Given the description of an element on the screen output the (x, y) to click on. 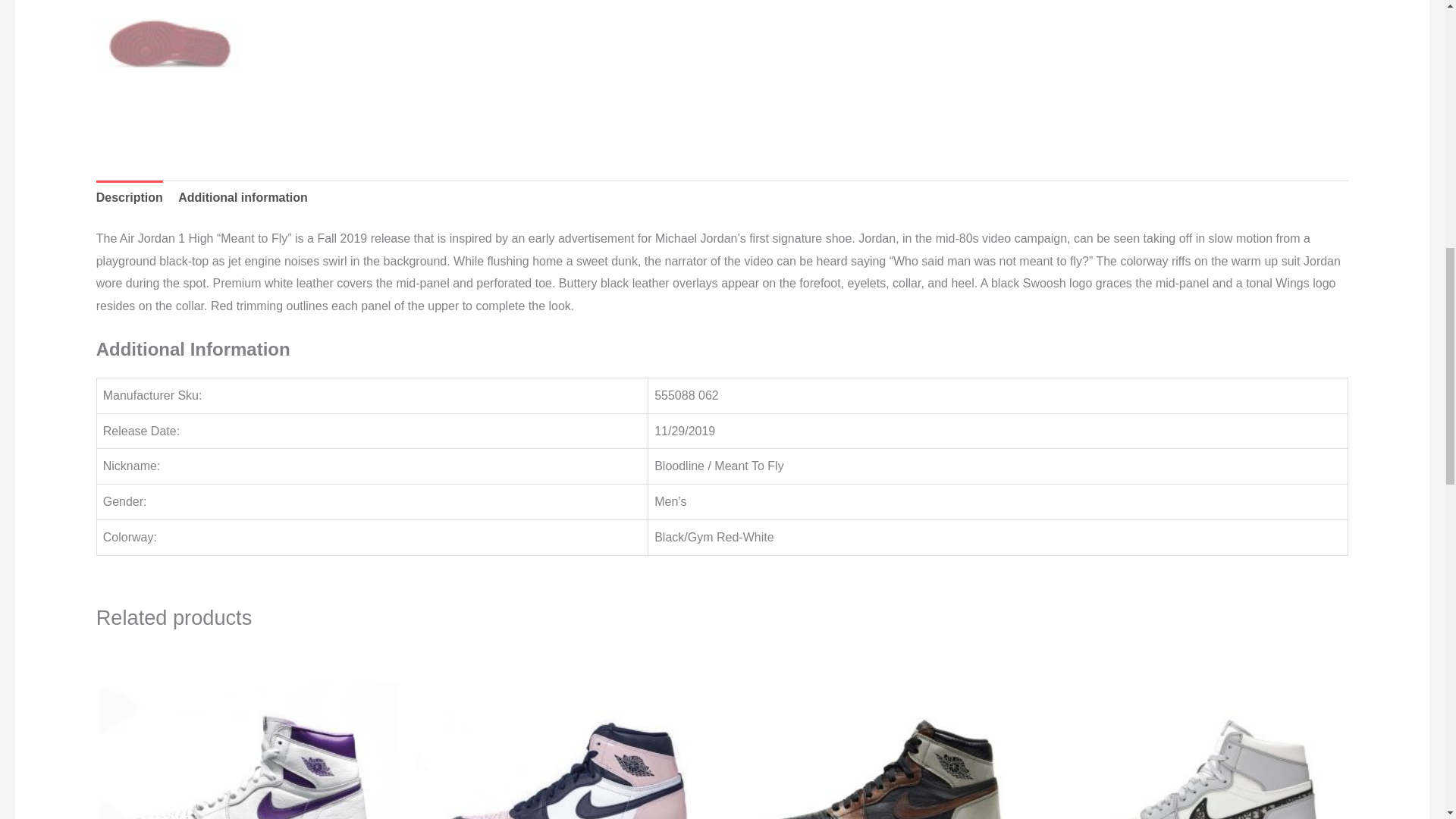
Additional information (242, 197)
Description (129, 197)
